Given the description of an element on the screen output the (x, y) to click on. 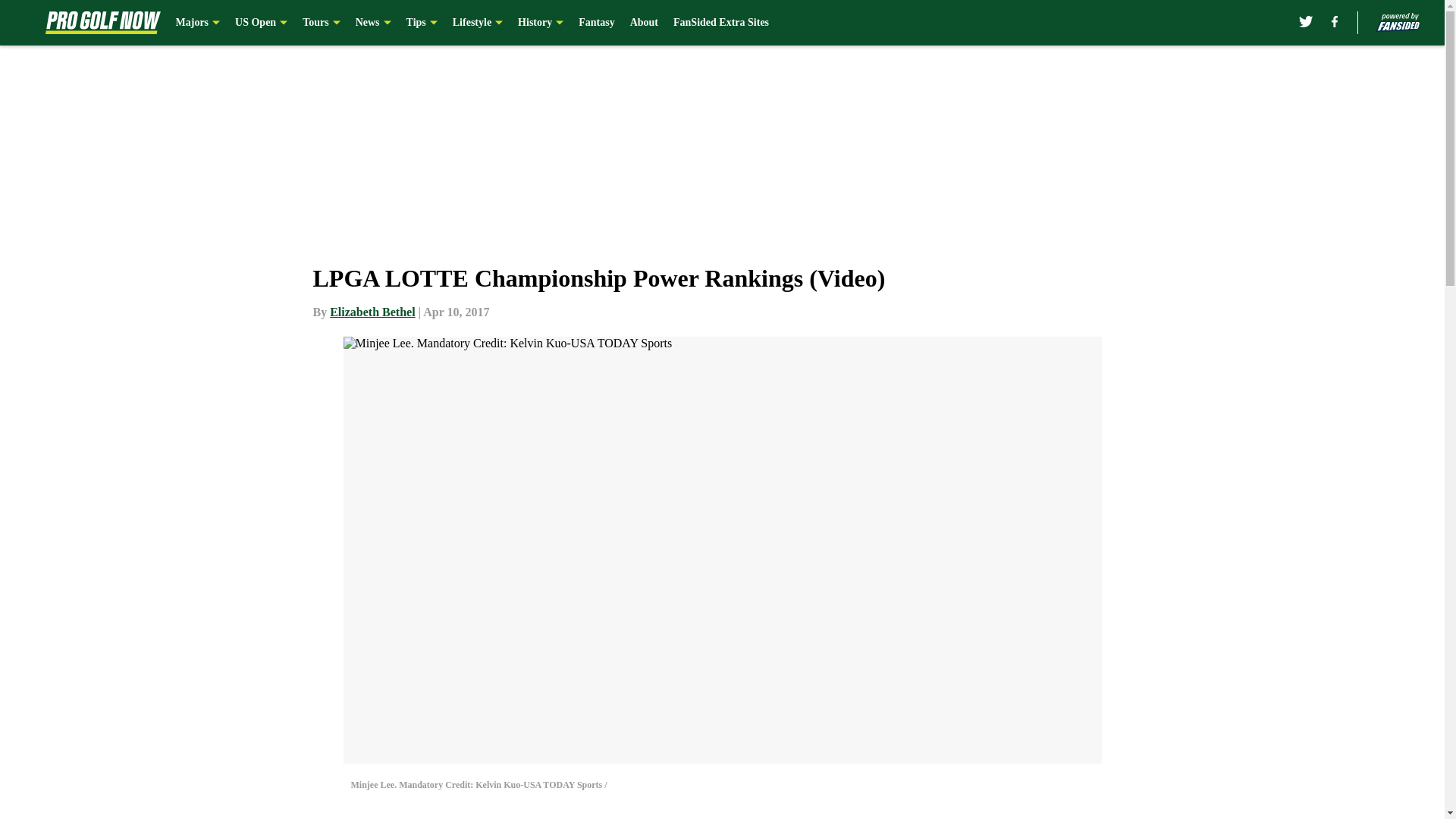
FanSided Extra Sites (720, 22)
Elizabeth Bethel (372, 311)
About (644, 22)
Fantasy (596, 22)
